Given the description of an element on the screen output the (x, y) to click on. 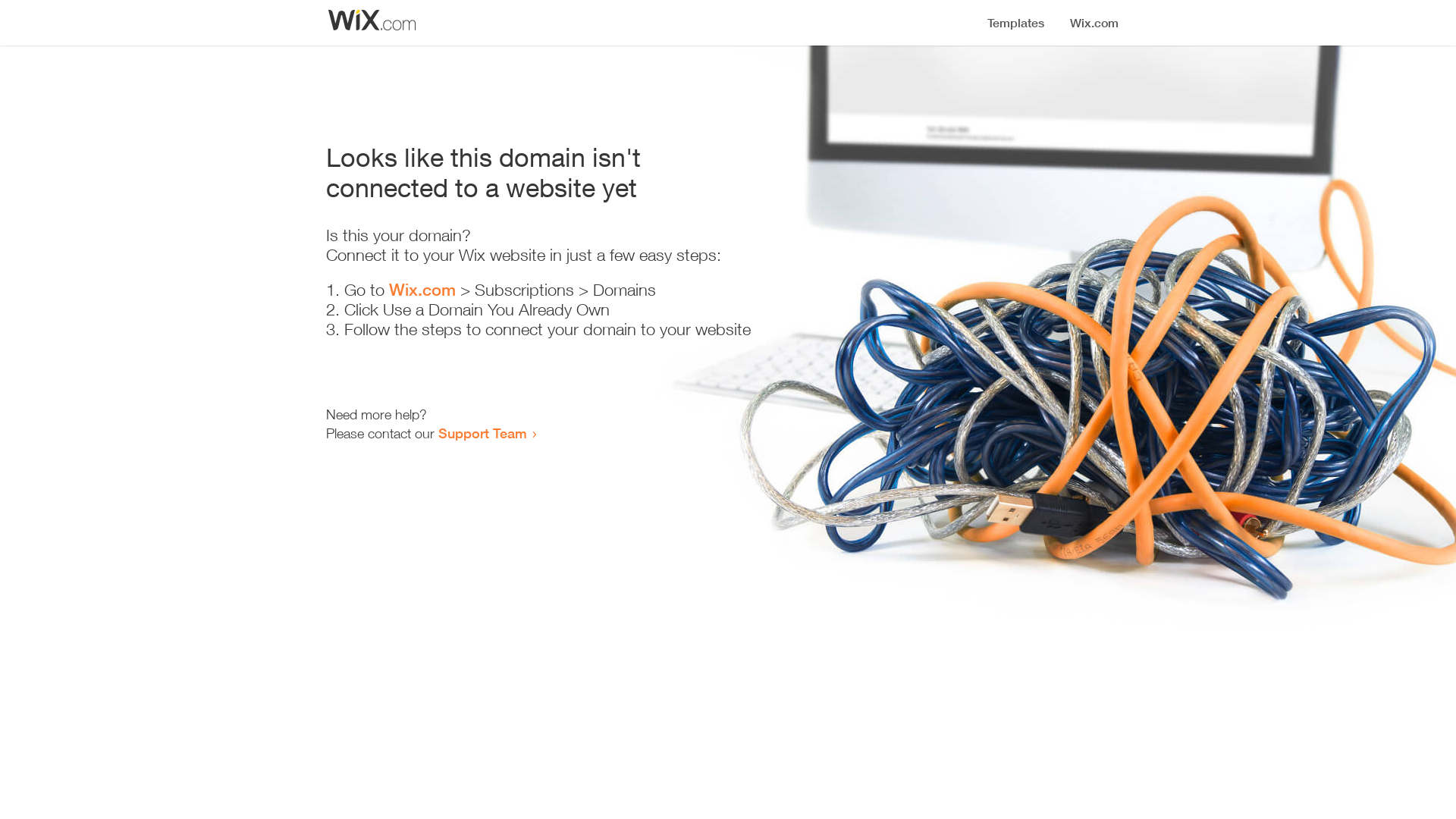
Support Team Element type: text (482, 432)
Wix.com Element type: text (422, 289)
